Given the description of an element on the screen output the (x, y) to click on. 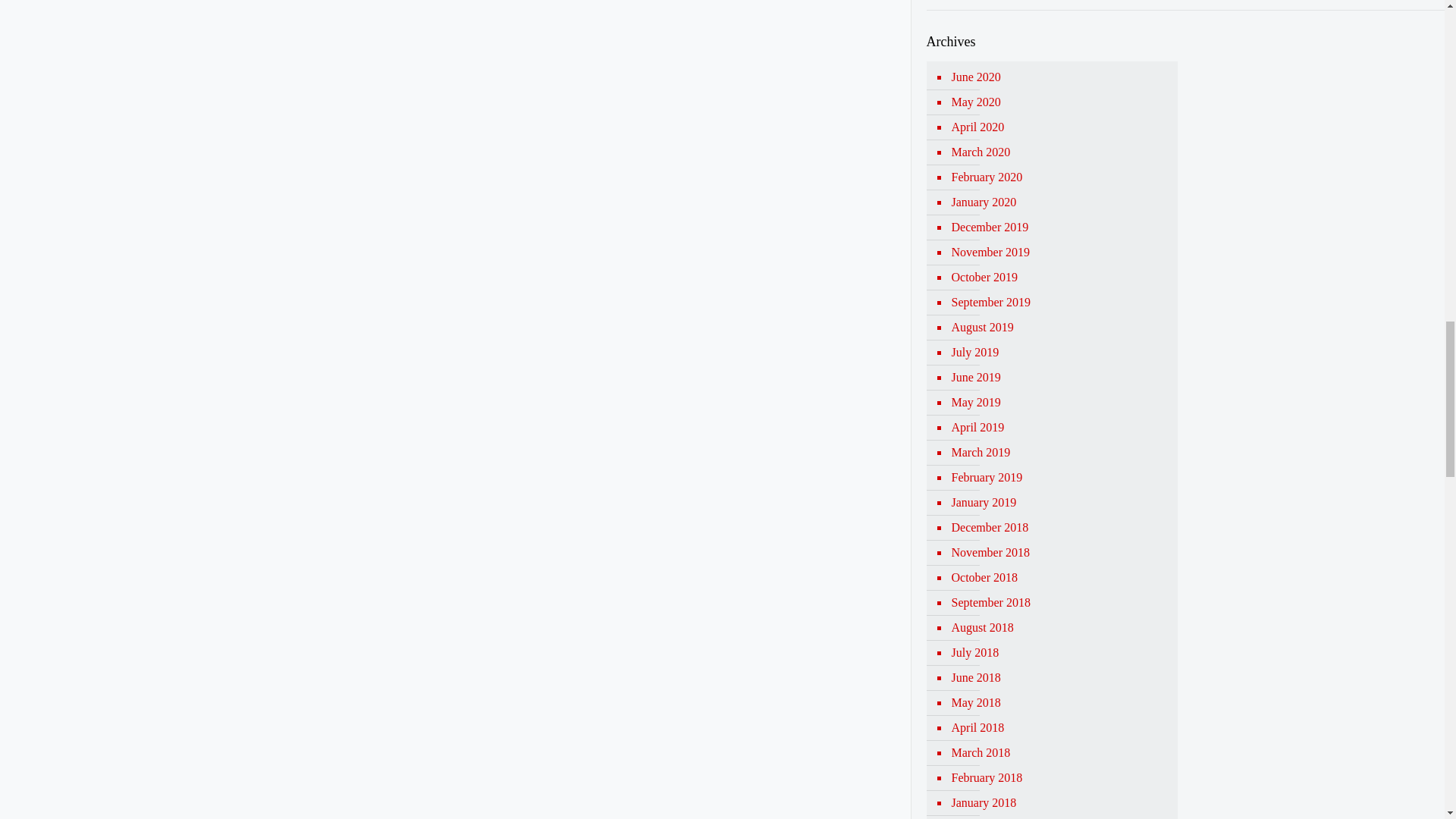
June 2020 (1059, 77)
May 2020 (1059, 102)
